Given the description of an element on the screen output the (x, y) to click on. 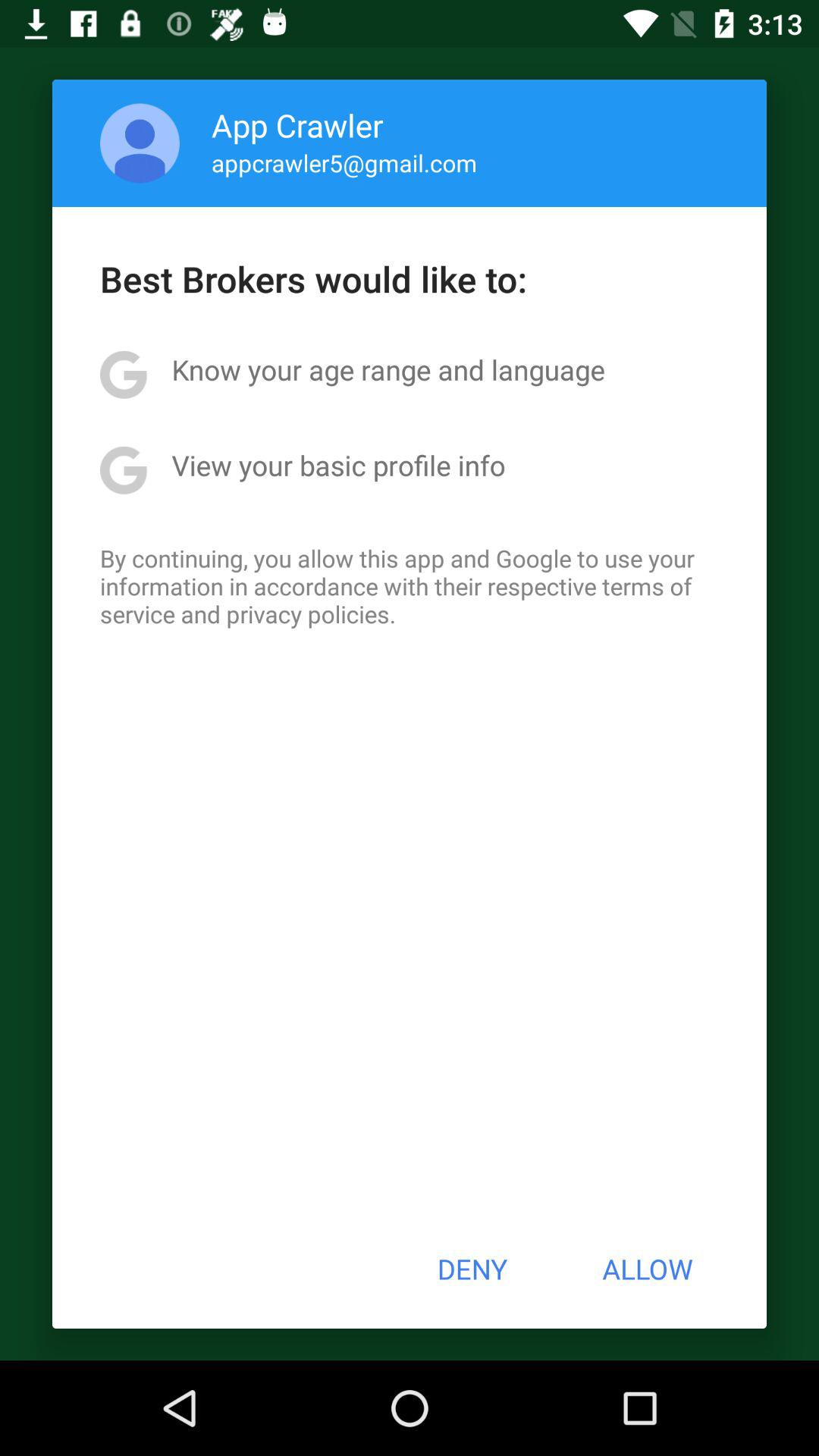
turn on app to the left of app crawler (139, 143)
